Given the description of an element on the screen output the (x, y) to click on. 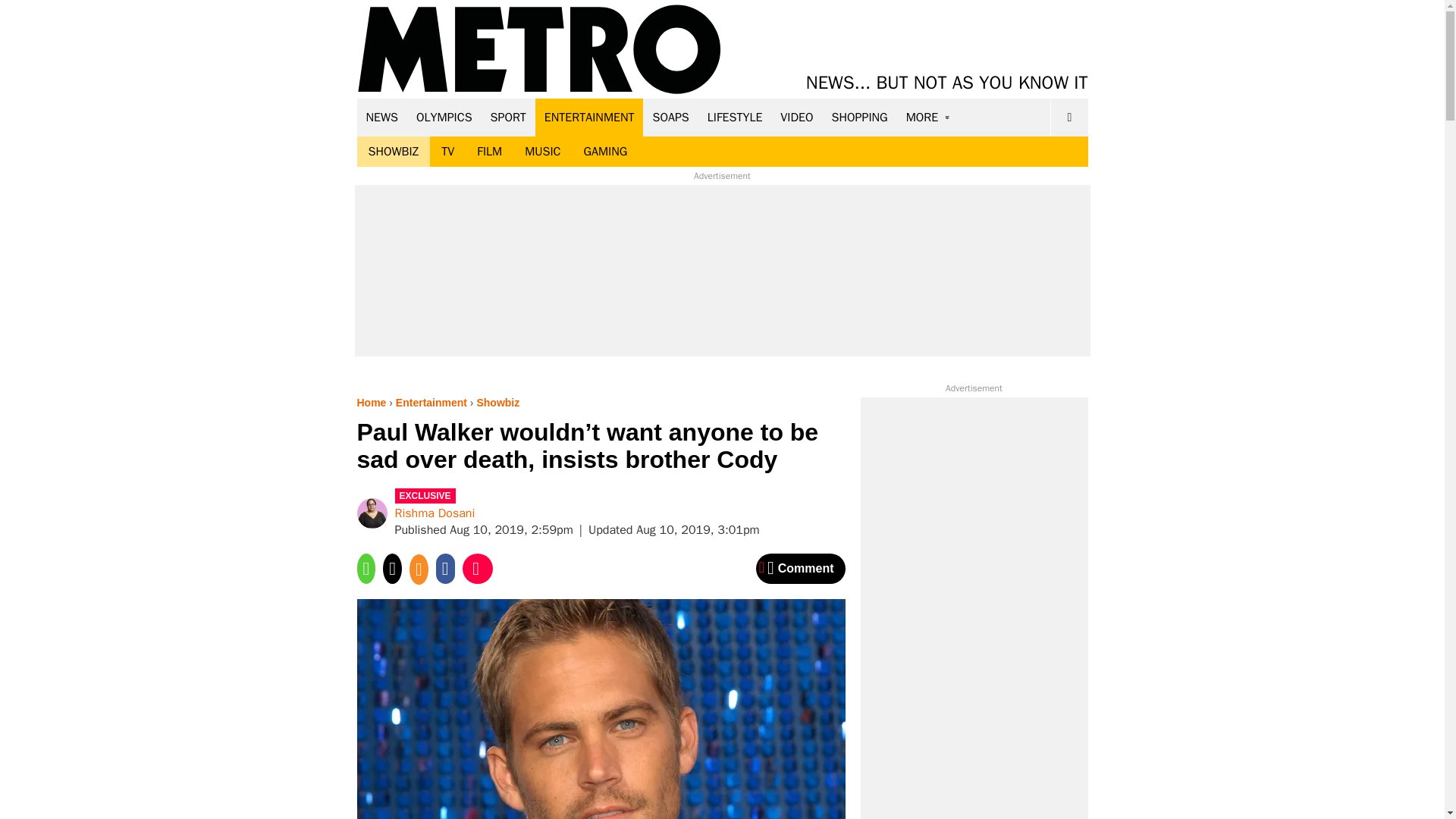
ENTERTAINMENT (589, 117)
GAMING (605, 151)
MUSIC (542, 151)
SHOWBIZ (392, 151)
OLYMPICS (444, 117)
NEWS (381, 117)
LIFESTYLE (734, 117)
TV (447, 151)
SPORT (508, 117)
Metro (539, 50)
